Given the description of an element on the screen output the (x, y) to click on. 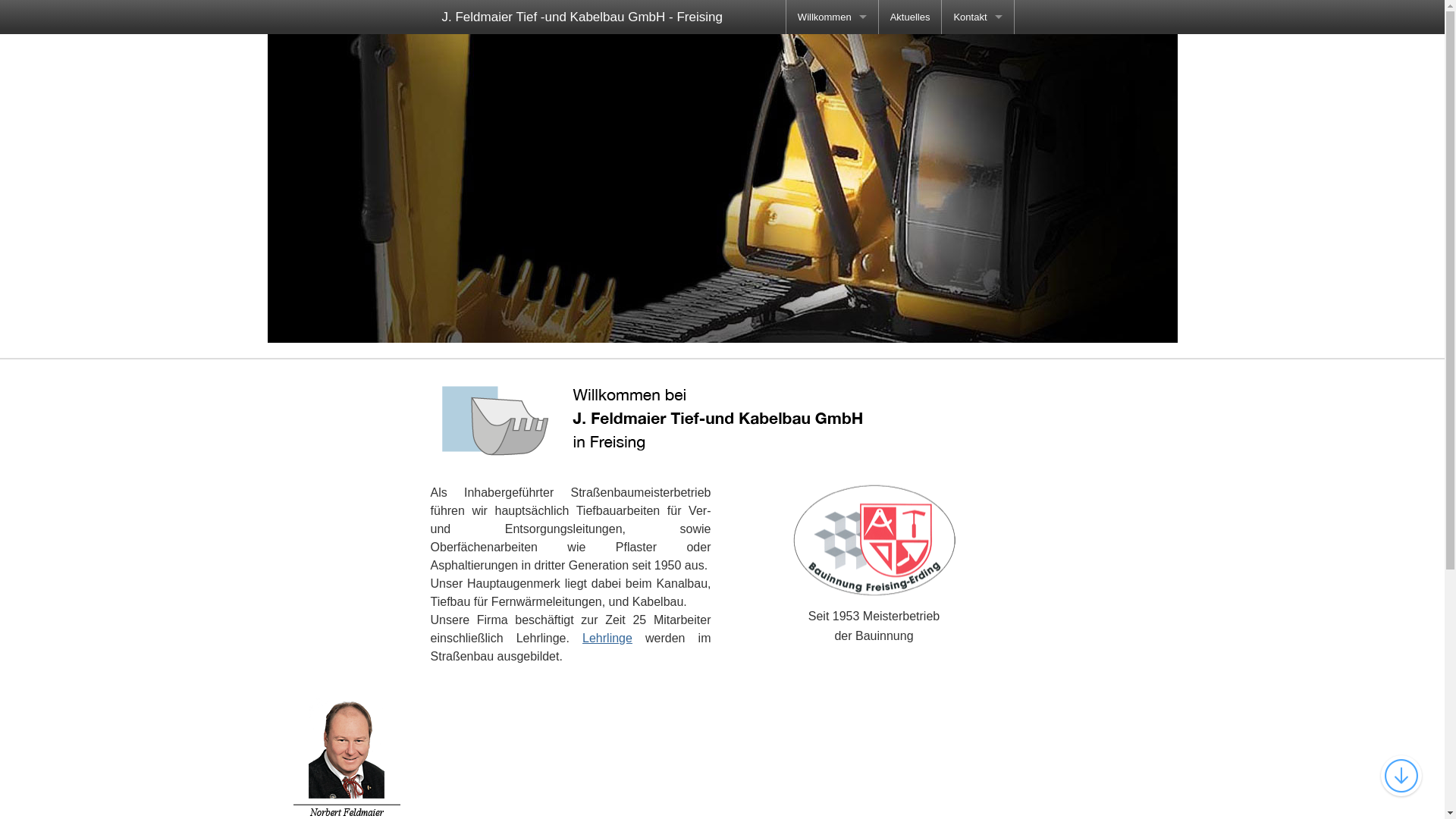
Chronik Element type: text (832, 51)
J. Feldmaier Tief -und Kabelbau GmbH - Freising Element type: text (581, 17)
Datenschutz Element type: text (832, 187)
Lehrlinge Element type: text (607, 637)
Anfahrt Element type: text (977, 51)
Zertifikate Element type: text (832, 85)
Galerie Element type: text (832, 119)
Aktuelles Element type: text (909, 17)
Willkommen Element type: text (832, 17)
Impressum Element type: text (832, 153)
Kontakt Element type: text (977, 17)
